Given the description of an element on the screen output the (x, y) to click on. 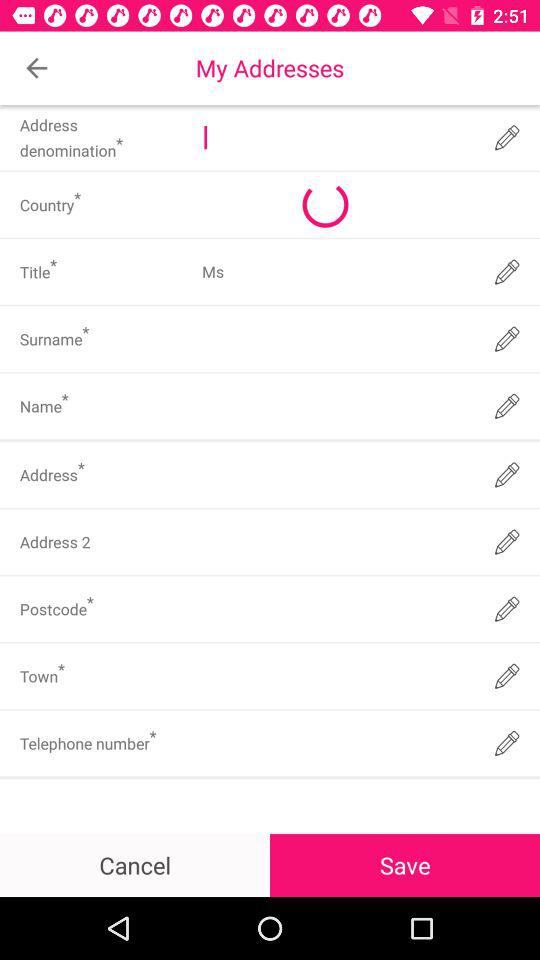
open the cancel (135, 864)
